Given the description of an element on the screen output the (x, y) to click on. 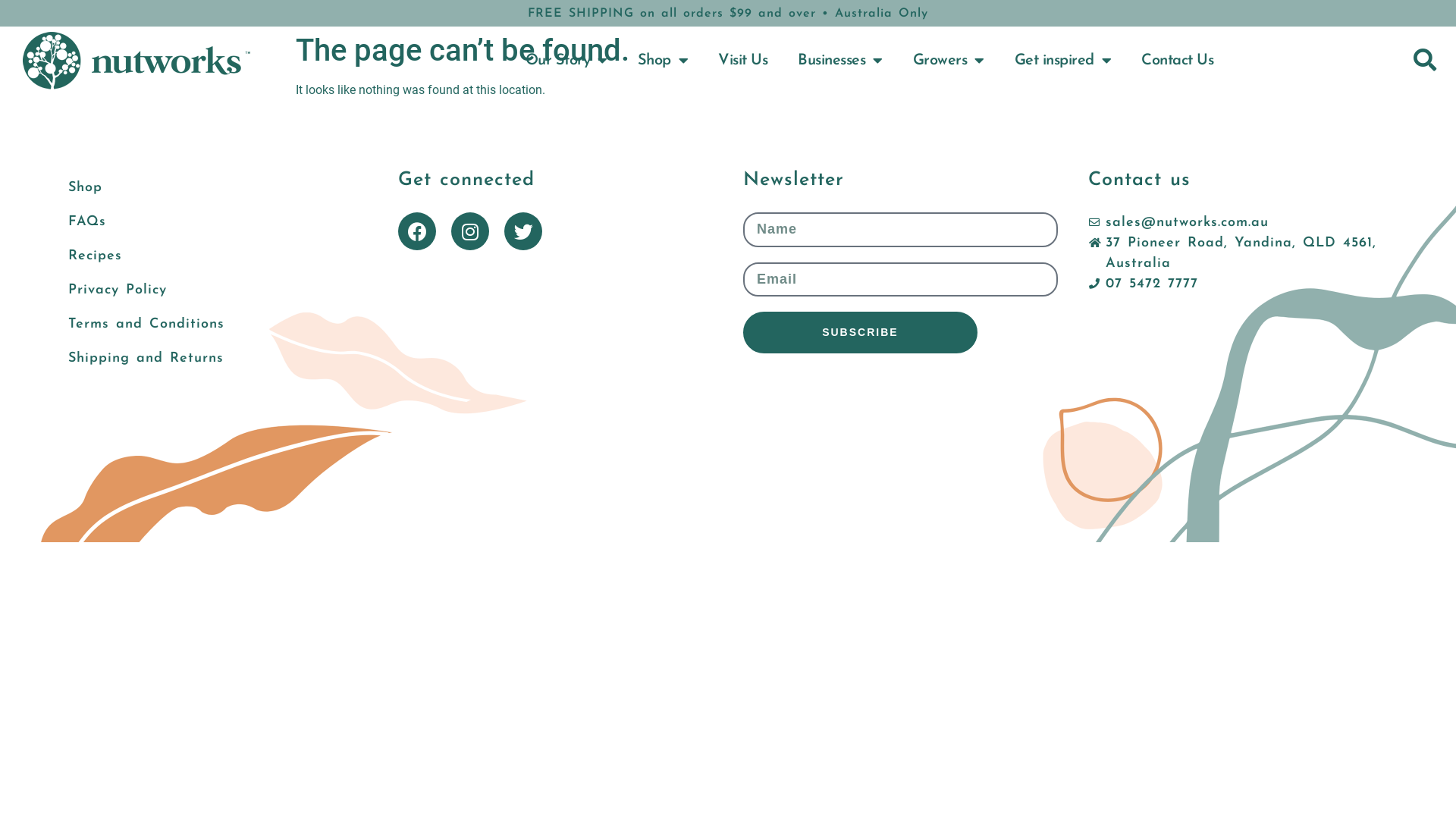
Shop Element type: text (662, 60)
Businesses Element type: text (839, 60)
Contact Us Element type: text (1177, 60)
07 5472 7777 Element type: text (1143, 283)
Recipes Element type: text (210, 255)
Privacy Policy Element type: text (210, 290)
Terms and Conditions Element type: text (210, 324)
Shipping and Returns Element type: text (210, 358)
Growers Element type: text (948, 60)
FAQs Element type: text (210, 221)
Get inspired Element type: text (1062, 60)
Our Story Element type: text (566, 60)
sales@nutworks.com.au Element type: text (1178, 222)
SUBSCRIBE Element type: text (860, 332)
Visit Us Element type: text (742, 60)
Shop Element type: text (210, 187)
